Given the description of an element on the screen output the (x, y) to click on. 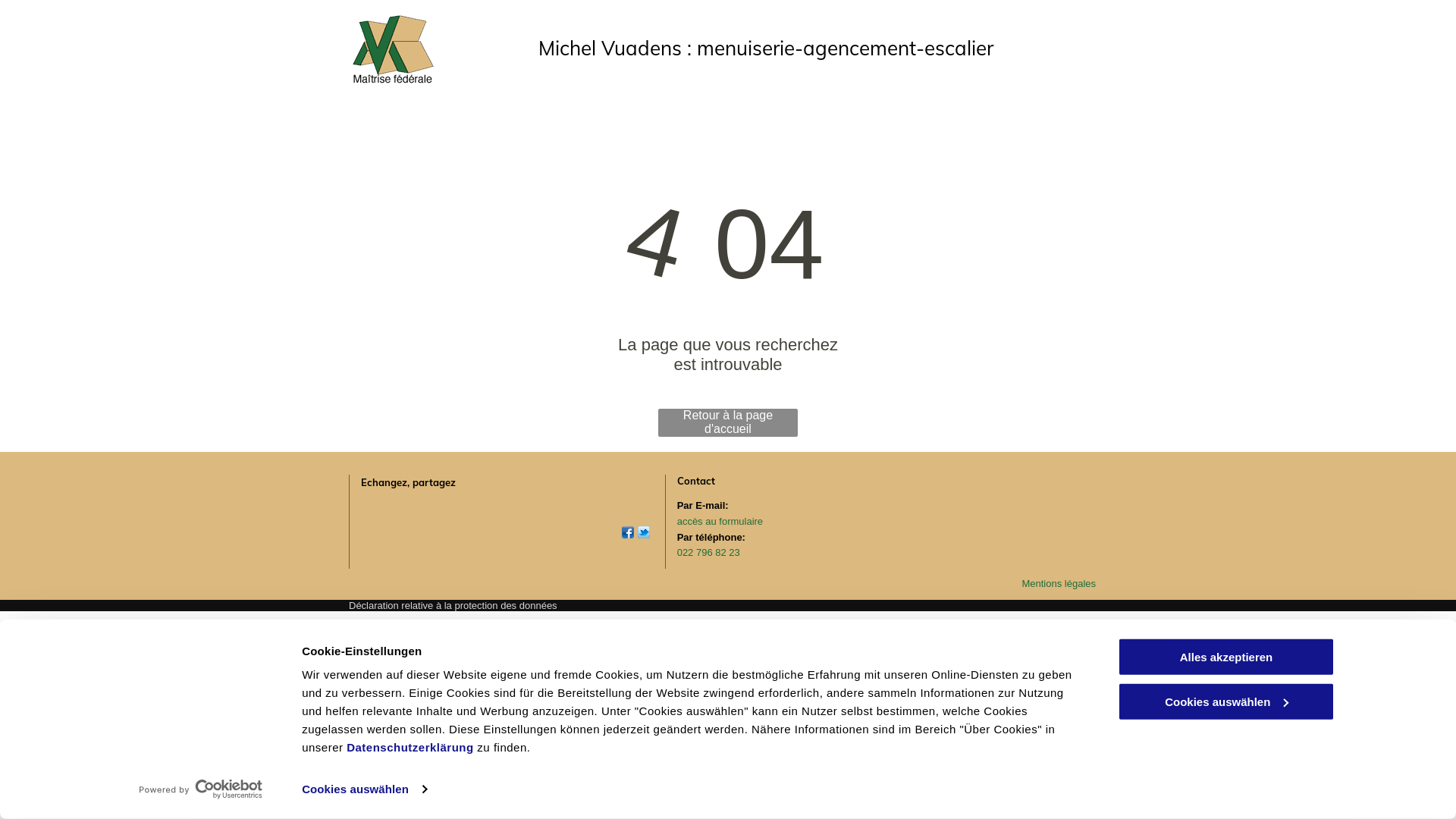
fb:like Facebook Social Plugin Element type: hover (394, 515)
Alles akzeptieren Element type: text (1225, 656)
022 796 82 23 Element type: text (712, 560)
Michel Vuadens : menuiserie-agencement-escalier Element type: text (765, 47)
